Given the description of an element on the screen output the (x, y) to click on. 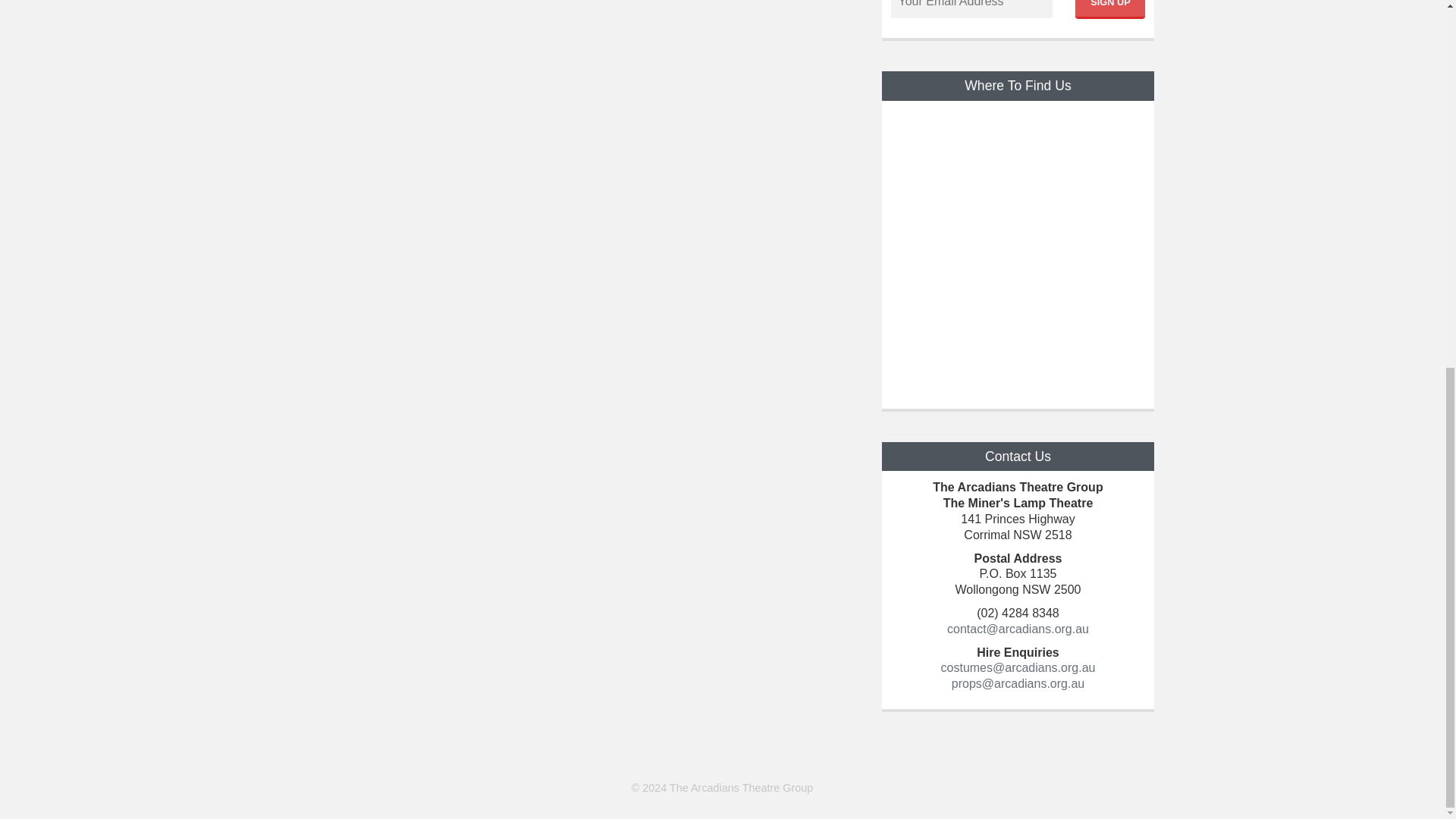
Sign Up (1109, 9)
Sign Up (1109, 9)
